Given the description of an element on the screen output the (x, y) to click on. 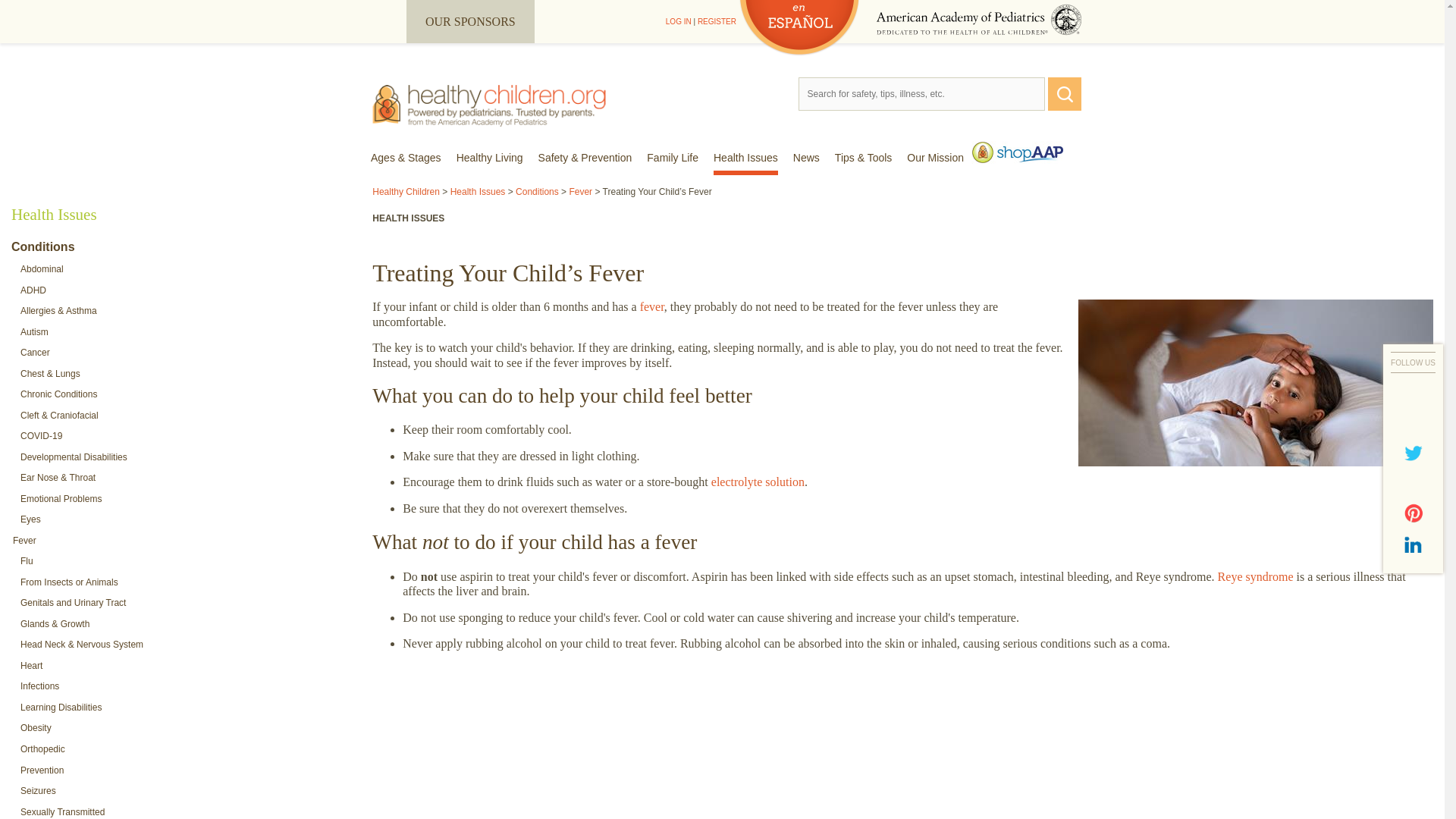
Pinterest (1413, 513)
OUR SPONSORS (470, 21)
Facebook (1413, 422)
Linked In (1413, 543)
Instagram (1413, 391)
Twitter (1413, 452)
LOG IN (678, 21)
REGISTER (716, 21)
YouTube (1413, 482)
